Given the description of an element on the screen output the (x, y) to click on. 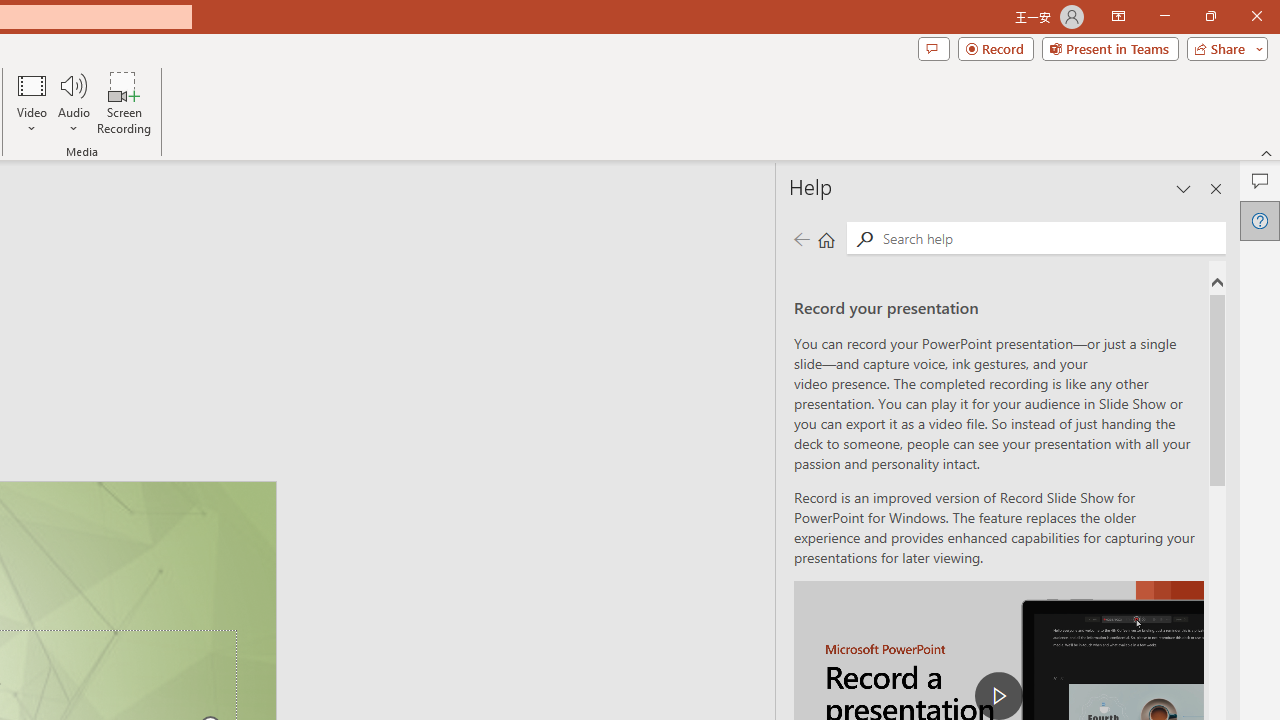
Screen Recording... (123, 102)
Previous page (801, 238)
Video (31, 102)
play Record a Presentation (998, 695)
